Given the description of an element on the screen output the (x, y) to click on. 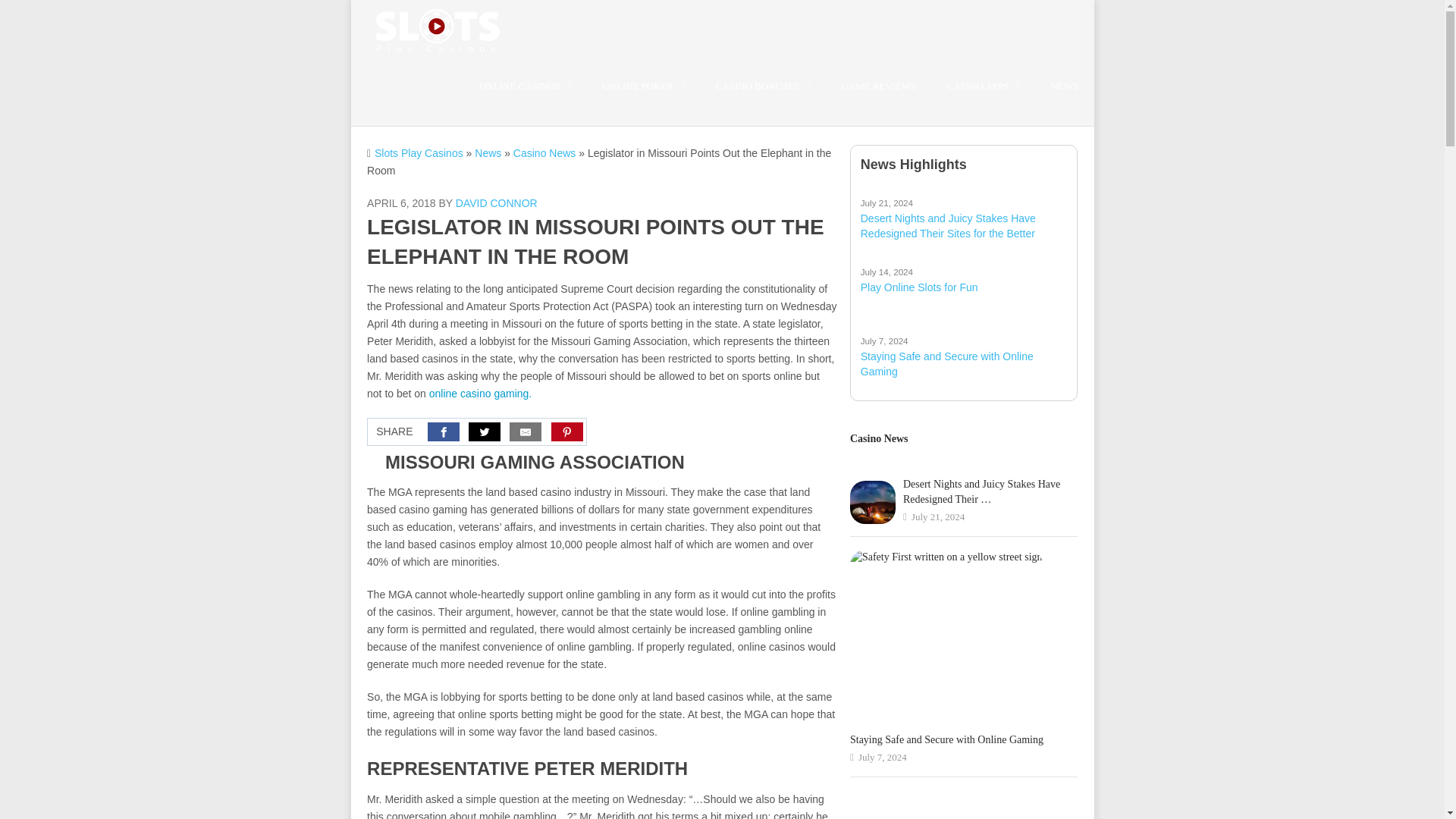
ONLINE CASINOS (525, 94)
Posts by David Connor (496, 203)
Play Online Slots for Fun (963, 279)
